Given the description of an element on the screen output the (x, y) to click on. 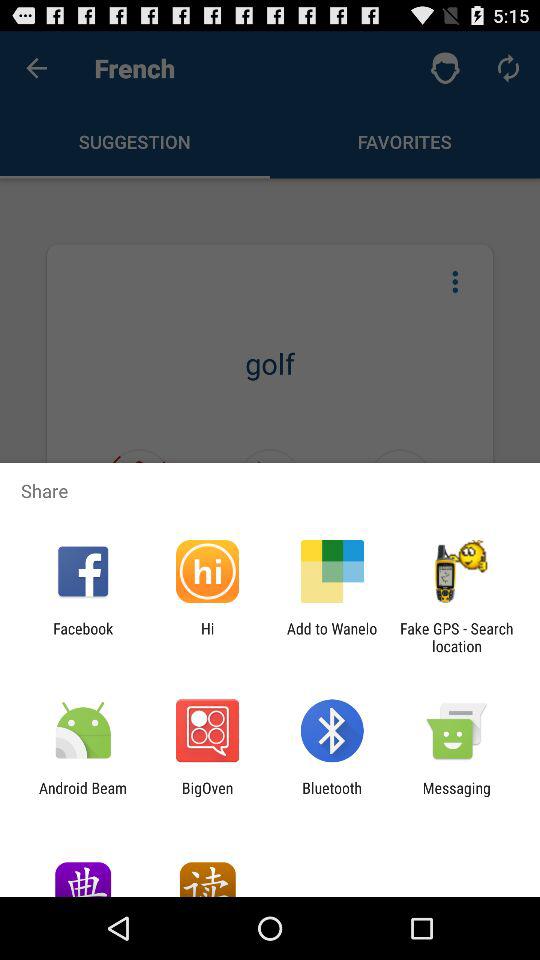
turn on the app next to bigoven icon (83, 796)
